Given the description of an element on the screen output the (x, y) to click on. 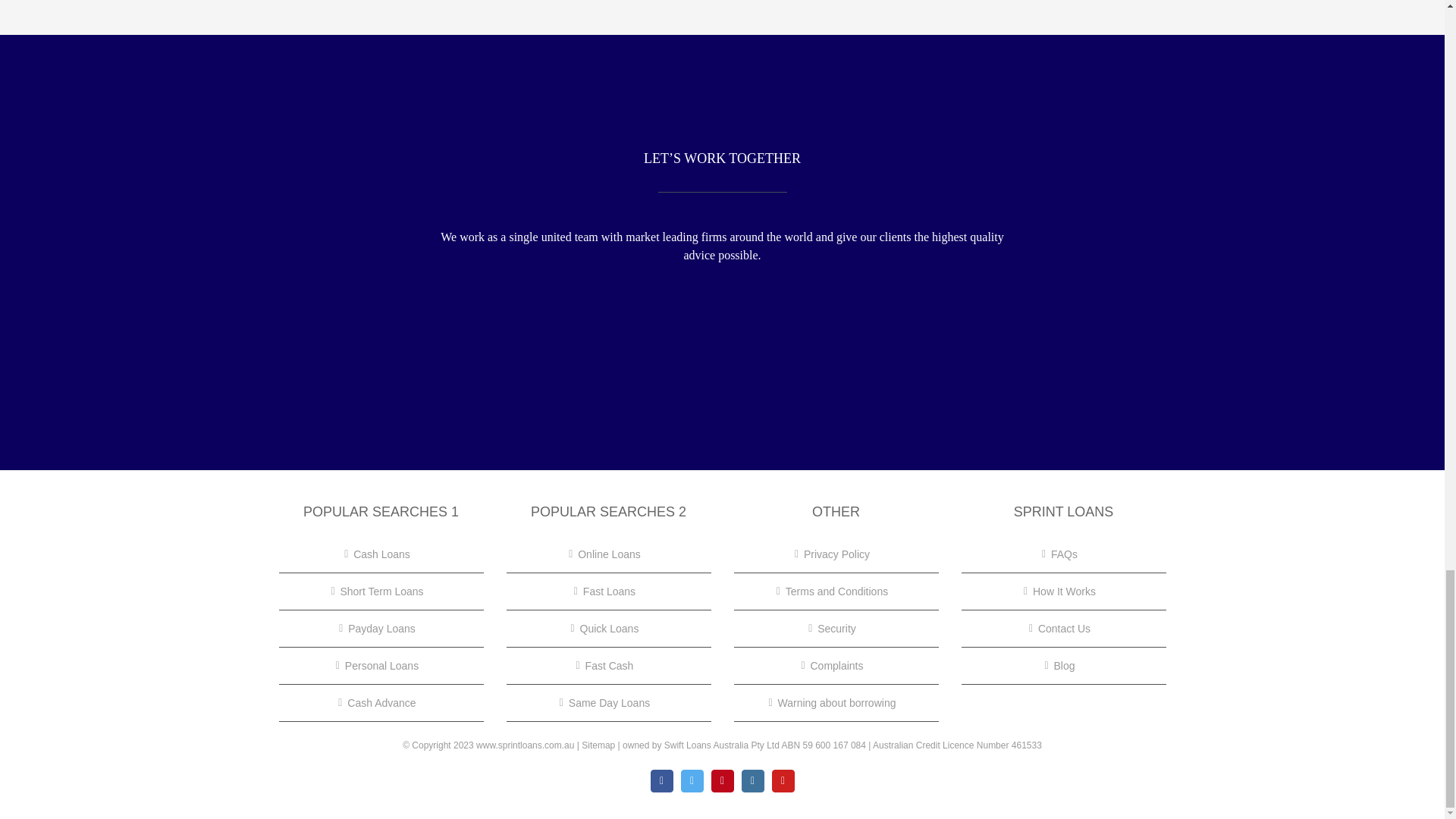
Privacy Policy (836, 554)
Cash Loans (382, 554)
Online Loans (609, 554)
Contact Us (1064, 628)
Same Day Loans (609, 702)
Same Day Loans (609, 702)
Quick Loans (609, 628)
Payday Loans (382, 628)
Payday Loans (382, 628)
Facebook (661, 780)
